Given the description of an element on the screen output the (x, y) to click on. 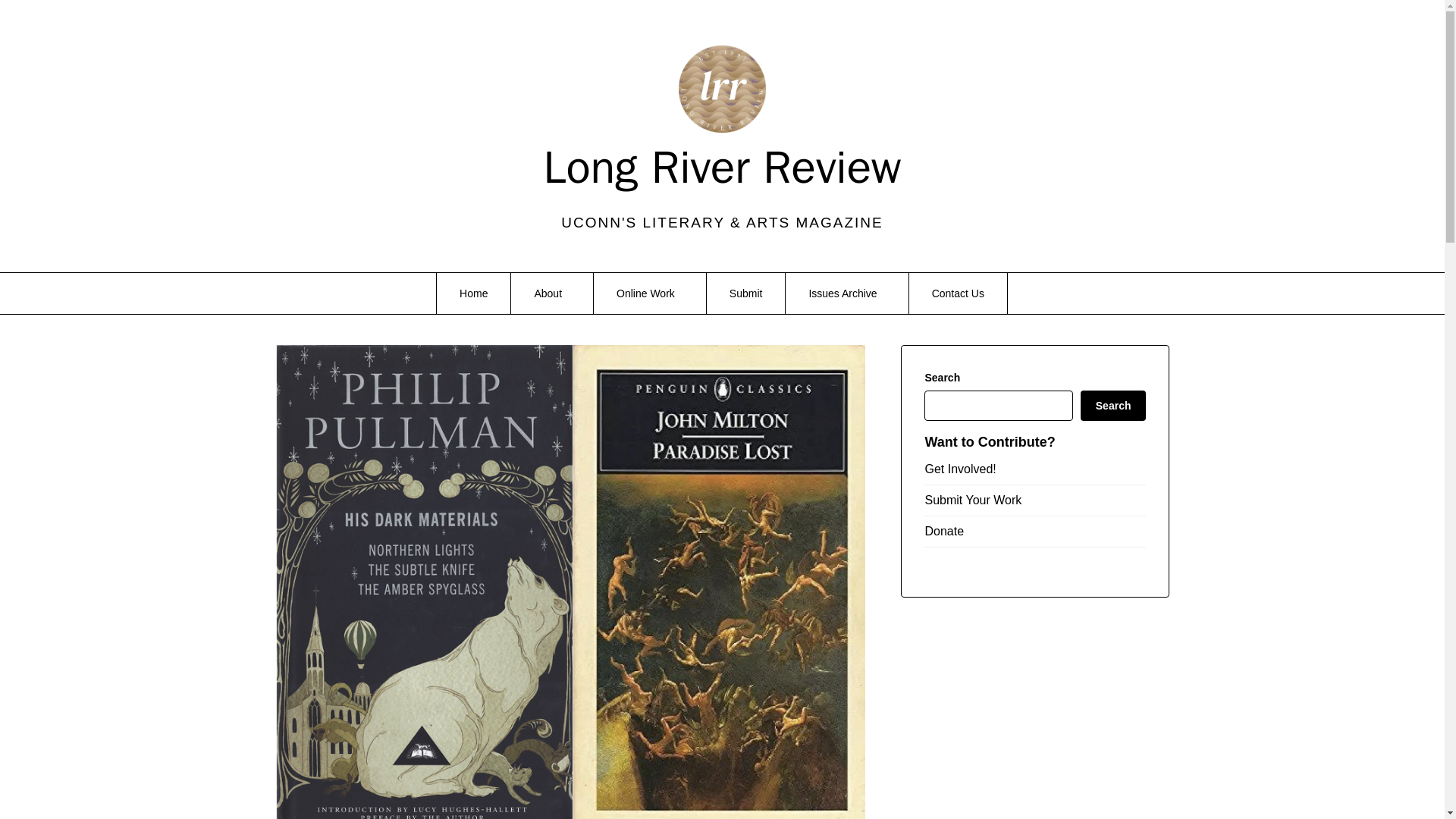
Home (473, 292)
Long River Review (722, 167)
Online Work (650, 292)
Contact Us (957, 292)
Issues Archive (846, 292)
Submit (746, 292)
About (551, 292)
